Given the description of an element on the screen output the (x, y) to click on. 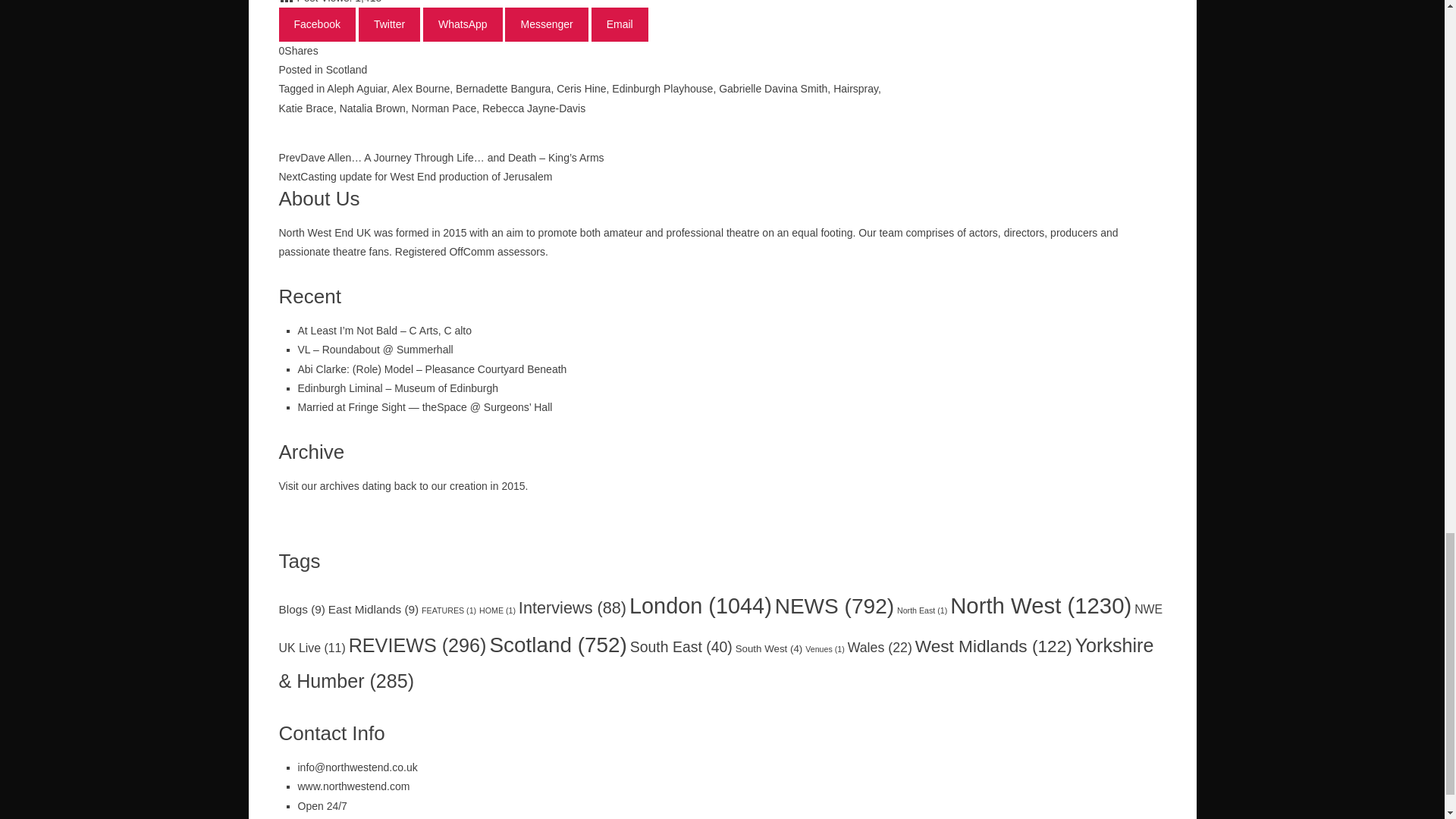
Twitter (389, 24)
Aleph Aguiar (356, 88)
Email (619, 24)
Messenger (546, 24)
Ceris Hine (580, 88)
Facebook (317, 24)
Scotland (346, 69)
Alex Bourne (420, 88)
Bernadette Bangura (502, 88)
WhatsApp (462, 24)
